Given the description of an element on the screen output the (x, y) to click on. 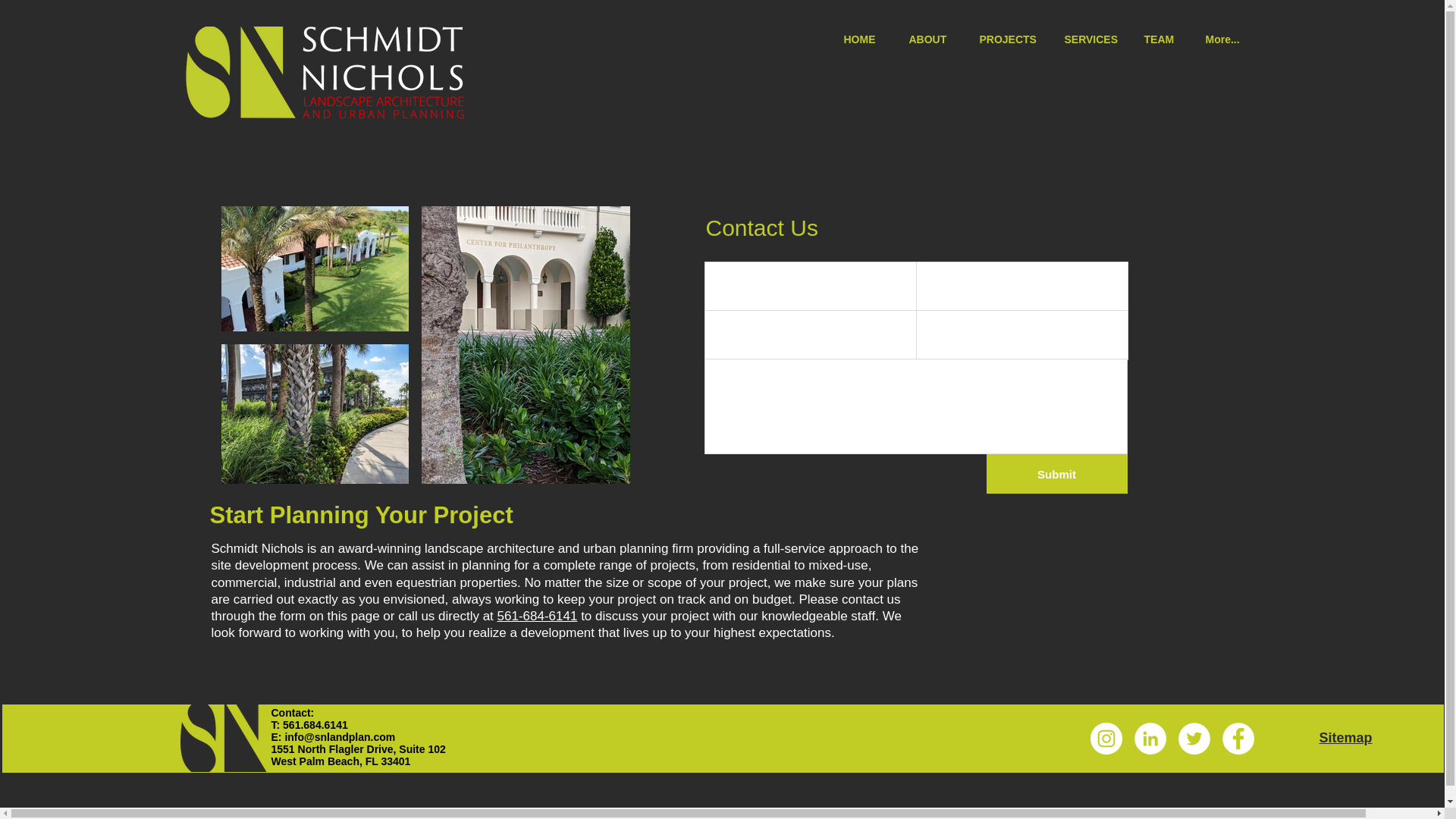
Sitemap (1345, 737)
Submit (1055, 473)
West Palm Beach, FL 33401 (340, 761)
HOME (865, 38)
561.684.6141 (314, 725)
Portrait Logo Website.png (223, 738)
ABOUT (933, 38)
561-684-6141 (537, 616)
1551 North Flagler Drive, Suite 102 (357, 748)
PROJECTS (1010, 38)
